Given the description of an element on the screen output the (x, y) to click on. 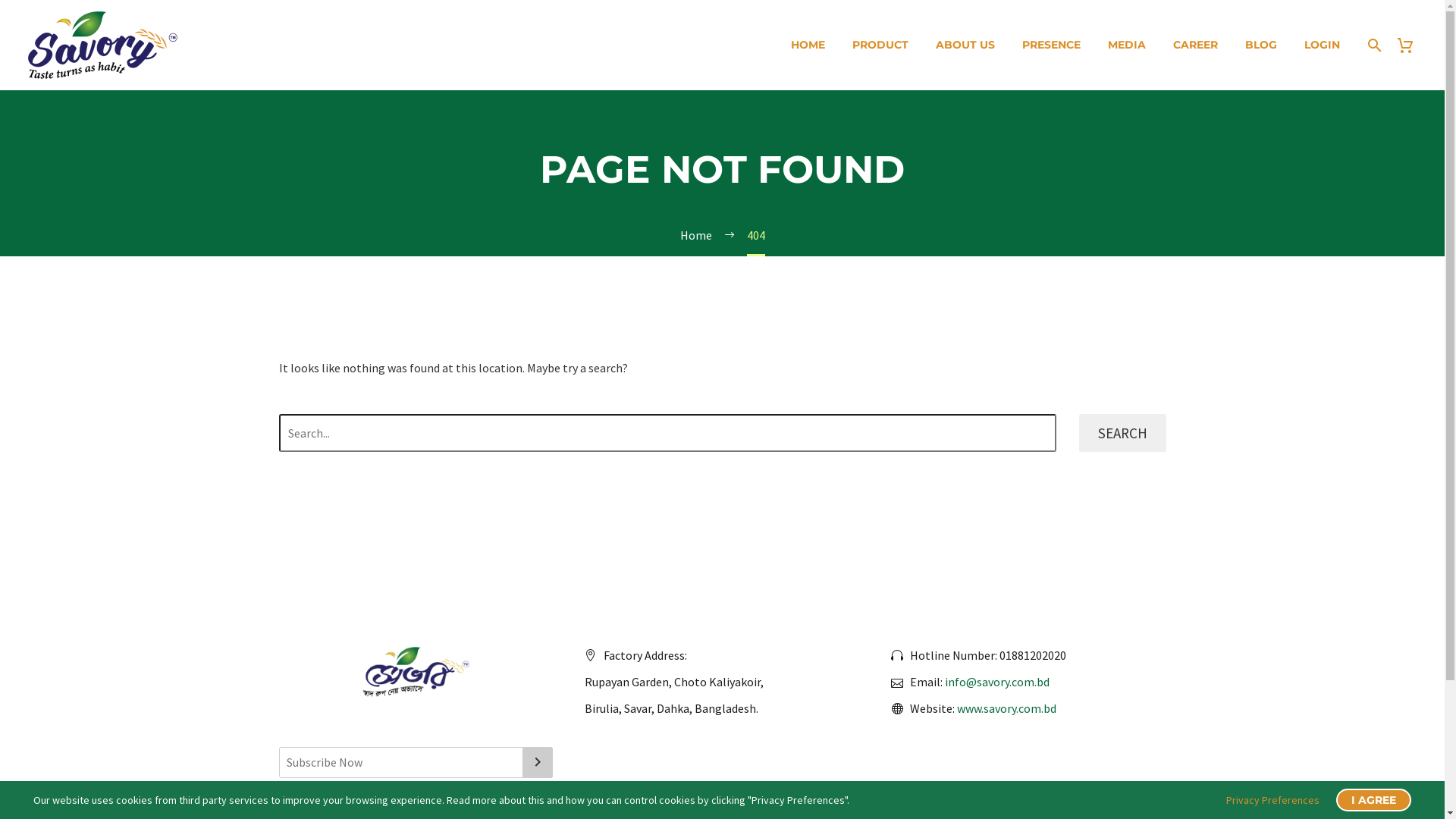
ABOUT US Element type: text (965, 44)
PRESENCE Element type: text (1051, 44)
MEDIA Element type: text (1126, 44)
www.savory.com.bd Element type: text (1006, 708)
SEARCH Element type: text (1121, 432)
HOME Element type: text (807, 44)
PRODUCT Element type: text (879, 44)
info@savory.com.bd Element type: text (996, 681)
CAREER Element type: text (1195, 44)
I AGREE Element type: text (1373, 799)
Home Element type: text (695, 234)
Privacy Preferences Element type: text (1272, 799)
BLOG Element type: text (1260, 44)
LOGIN Element type: text (1321, 44)
